Given the description of an element on the screen output the (x, y) to click on. 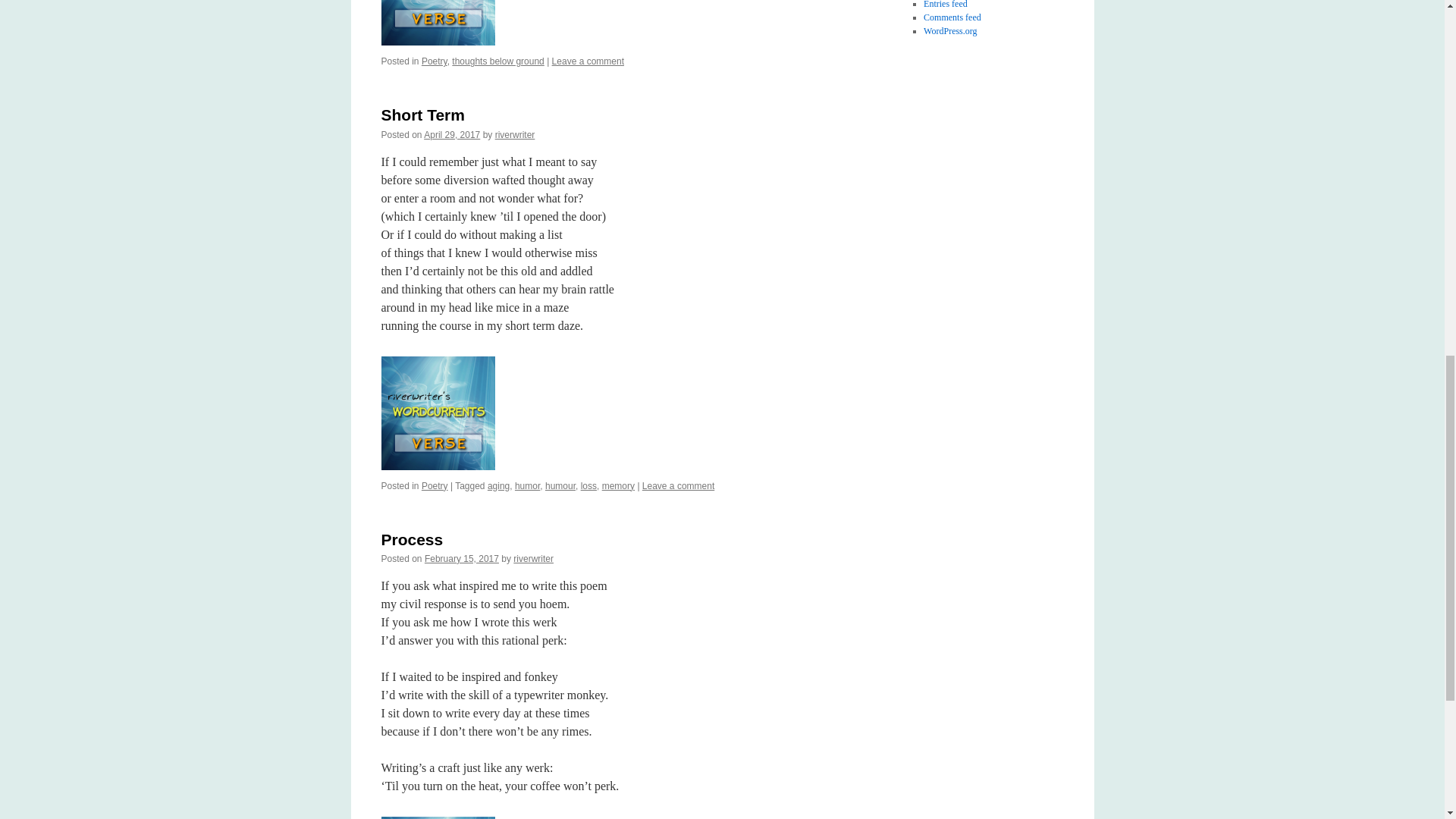
7:49 am (462, 558)
View all posts by riverwriter (533, 558)
8:08 pm (451, 134)
View all posts by riverwriter (515, 134)
